Given the description of an element on the screen output the (x, y) to click on. 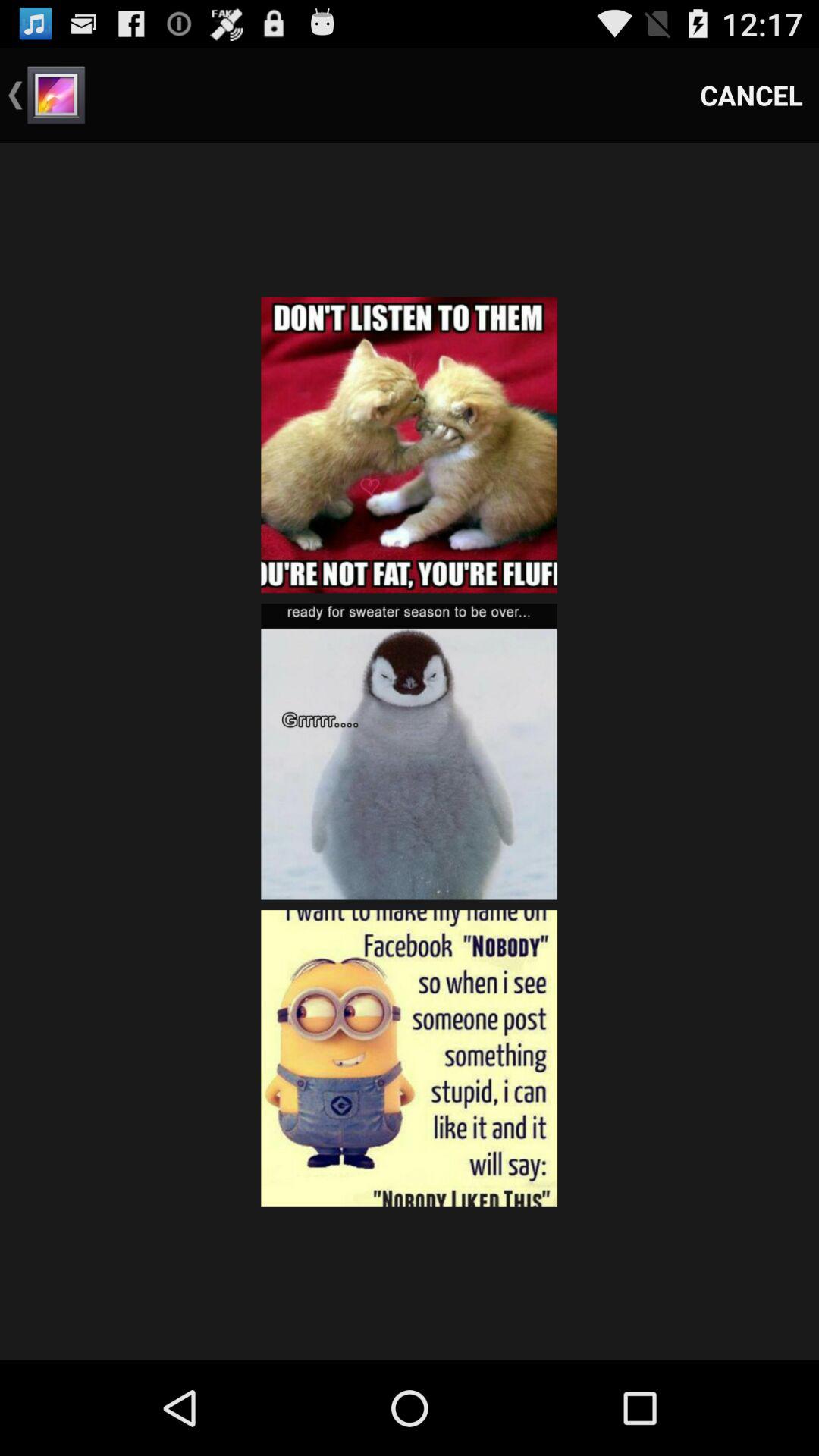
swipe to the cancel (751, 95)
